Given the description of an element on the screen output the (x, y) to click on. 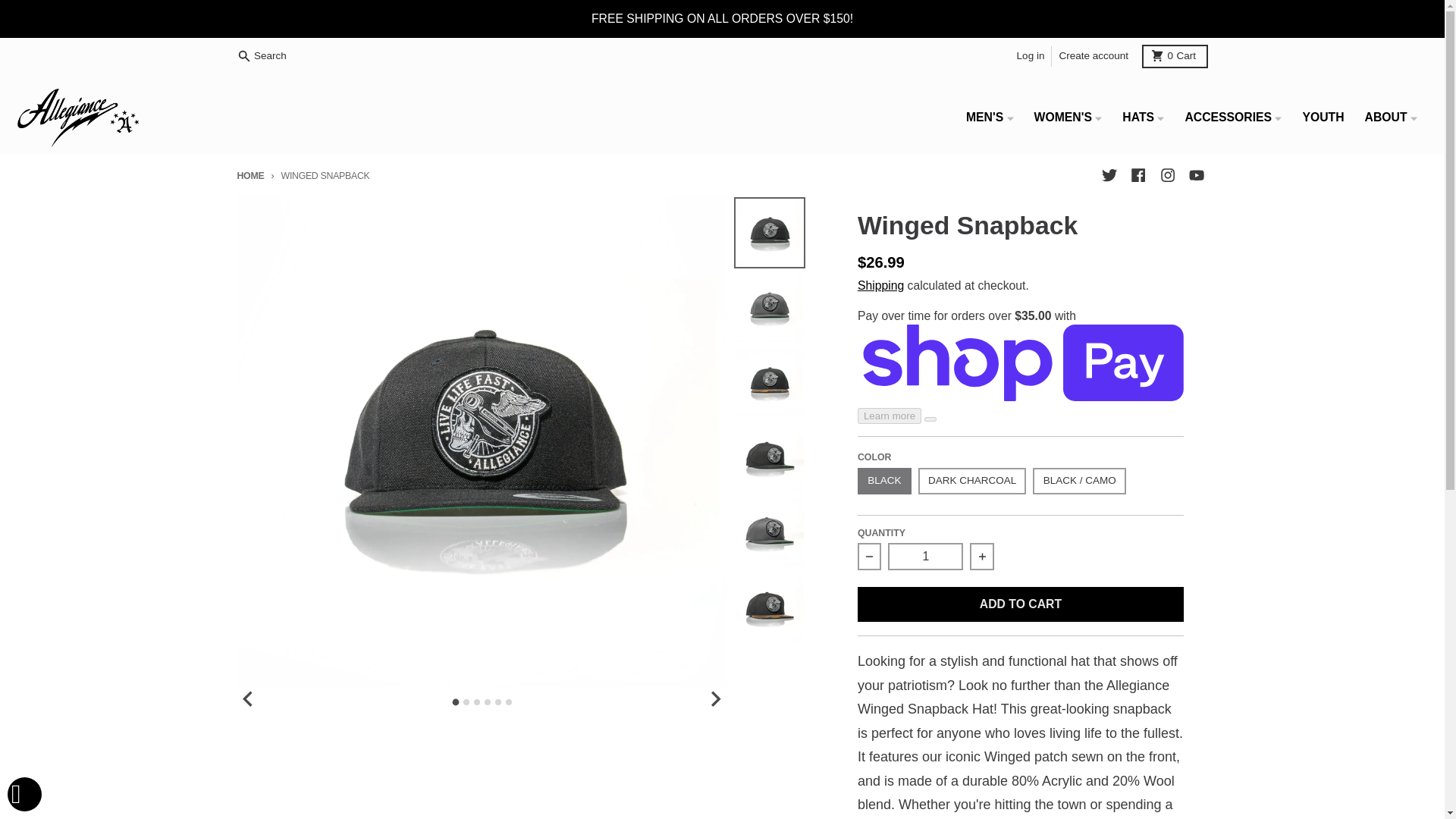
Dark Charcoal (1174, 55)
Log in (263, 55)
1 (1030, 55)
Black (925, 556)
Instagram - Allegiance Clothing (1108, 175)
Facebook - Allegiance Clothing (1166, 175)
YouTube - Allegiance Clothing (1138, 175)
Back to the homepage (1196, 175)
Create account (249, 175)
